Given the description of an element on the screen output the (x, y) to click on. 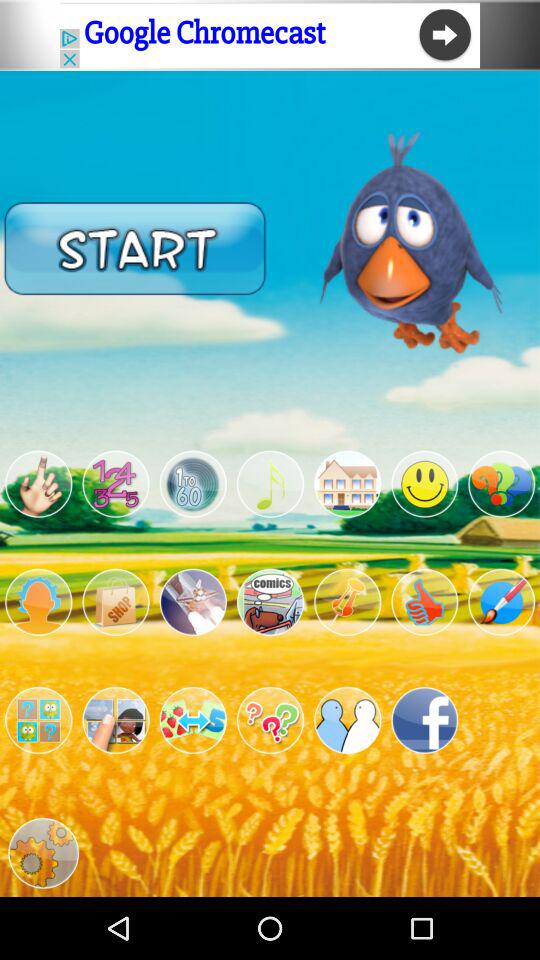
front end (270, 720)
